Given the description of an element on the screen output the (x, y) to click on. 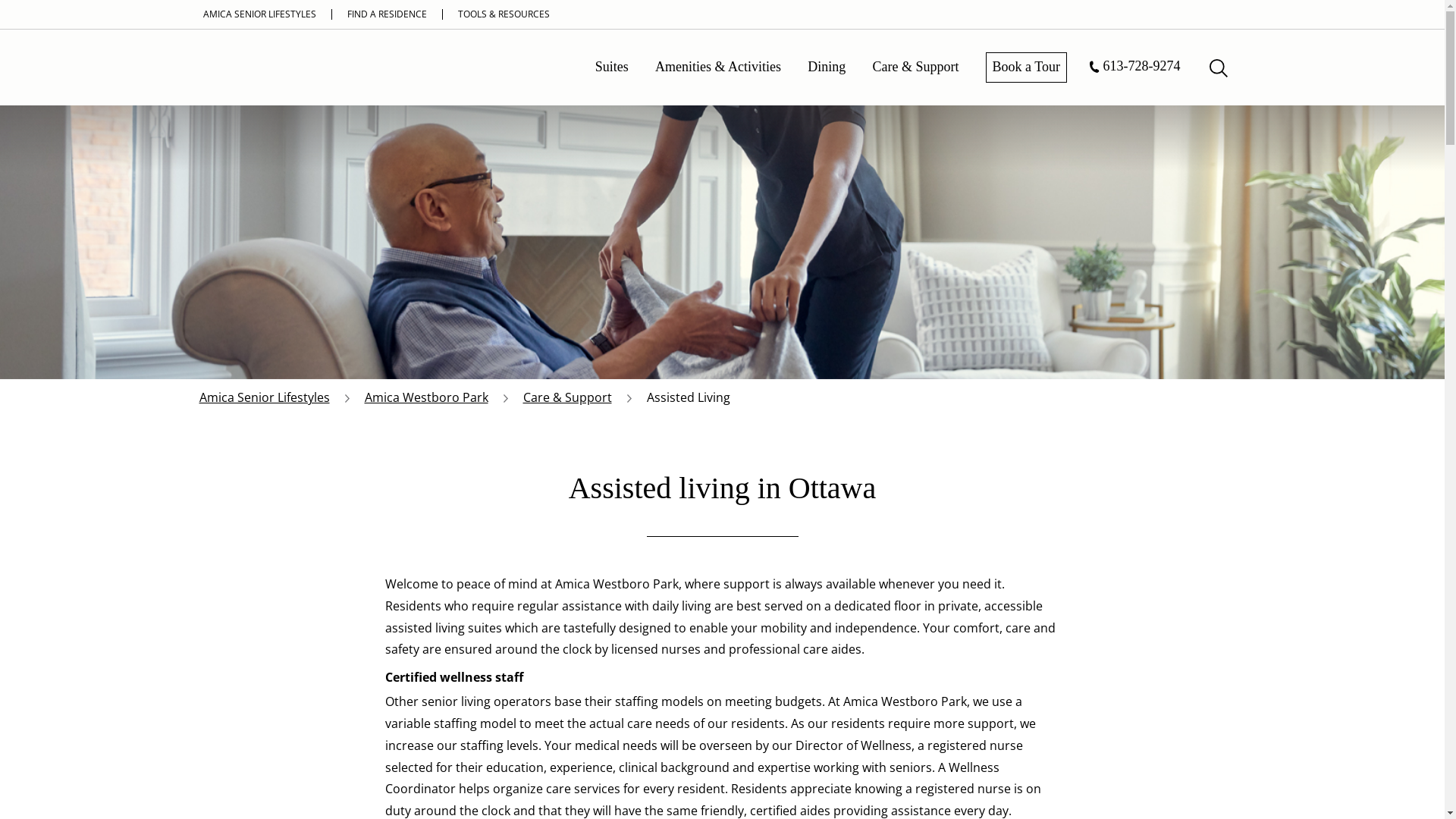
Amica Senior Lifestyles Element type: text (263, 397)
 Amica Care Support Hero Banner Element type: hover (722, 189)
Amenities & Activities Element type: text (718, 67)
Care & Support Element type: text (915, 67)
Suites Element type: text (611, 67)
Dining Element type: text (826, 67)
AMICA SENIOR LIFESTYLES Element type: text (259, 14)
Care & Support Element type: text (567, 397)
Amica Westboro Park Element type: text (425, 397)
Book a Tour Element type: text (1025, 67)
FIND A RESIDENCE Element type: text (385, 14)
613-728-9274 Element type: text (1135, 55)
TOOLS & RESOURCES Element type: text (502, 14)
